Given the description of an element on the screen output the (x, y) to click on. 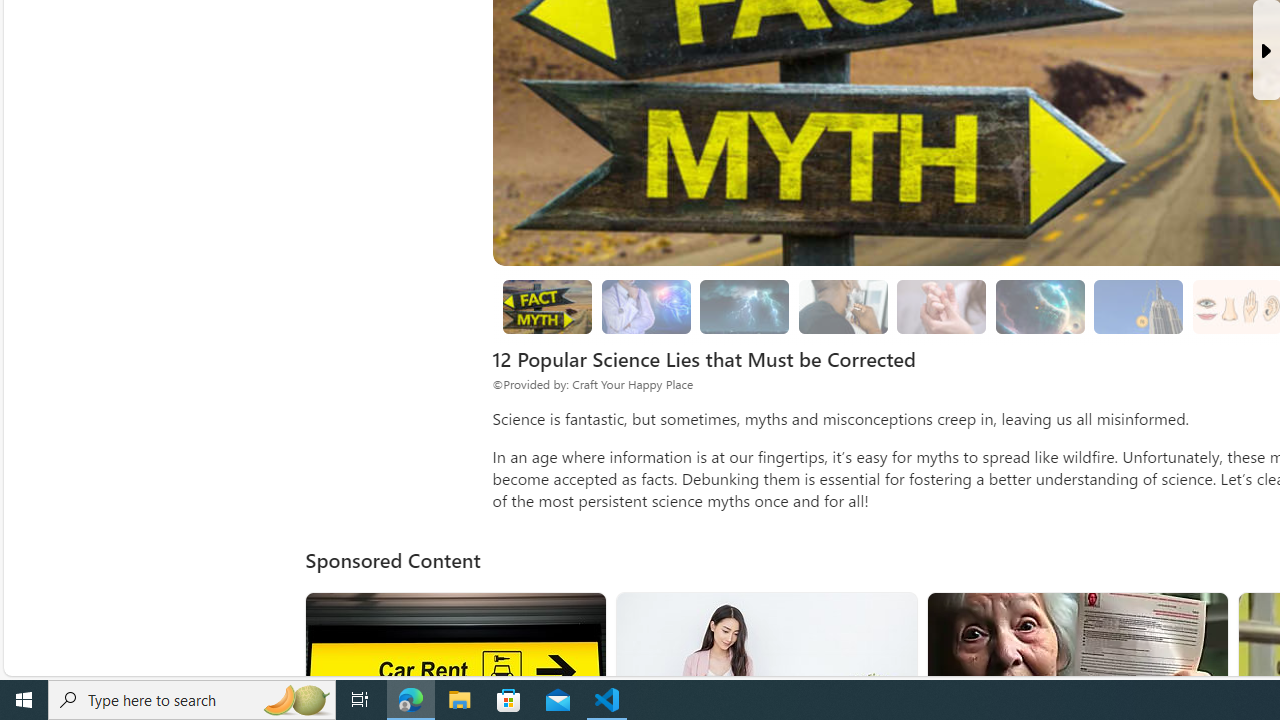
Space Myths (1039, 306)
Shaving and Hair Growth (843, 306)
Class: progress (1138, 303)
Knuckle Cracking and Arthritis (941, 306)
Brain Myths (646, 306)
Terminal Velocity of Falling Objects (1139, 307)
Brain Myths (646, 307)
Lightning Myths (743, 306)
Shaving and Hair Growth (842, 307)
Knuckle Cracking and Arthritis (941, 307)
Terminal Velocity of Falling Objects (1138, 306)
Space Myths (1039, 307)
Lightning Myths (744, 307)
